Given the description of an element on the screen output the (x, y) to click on. 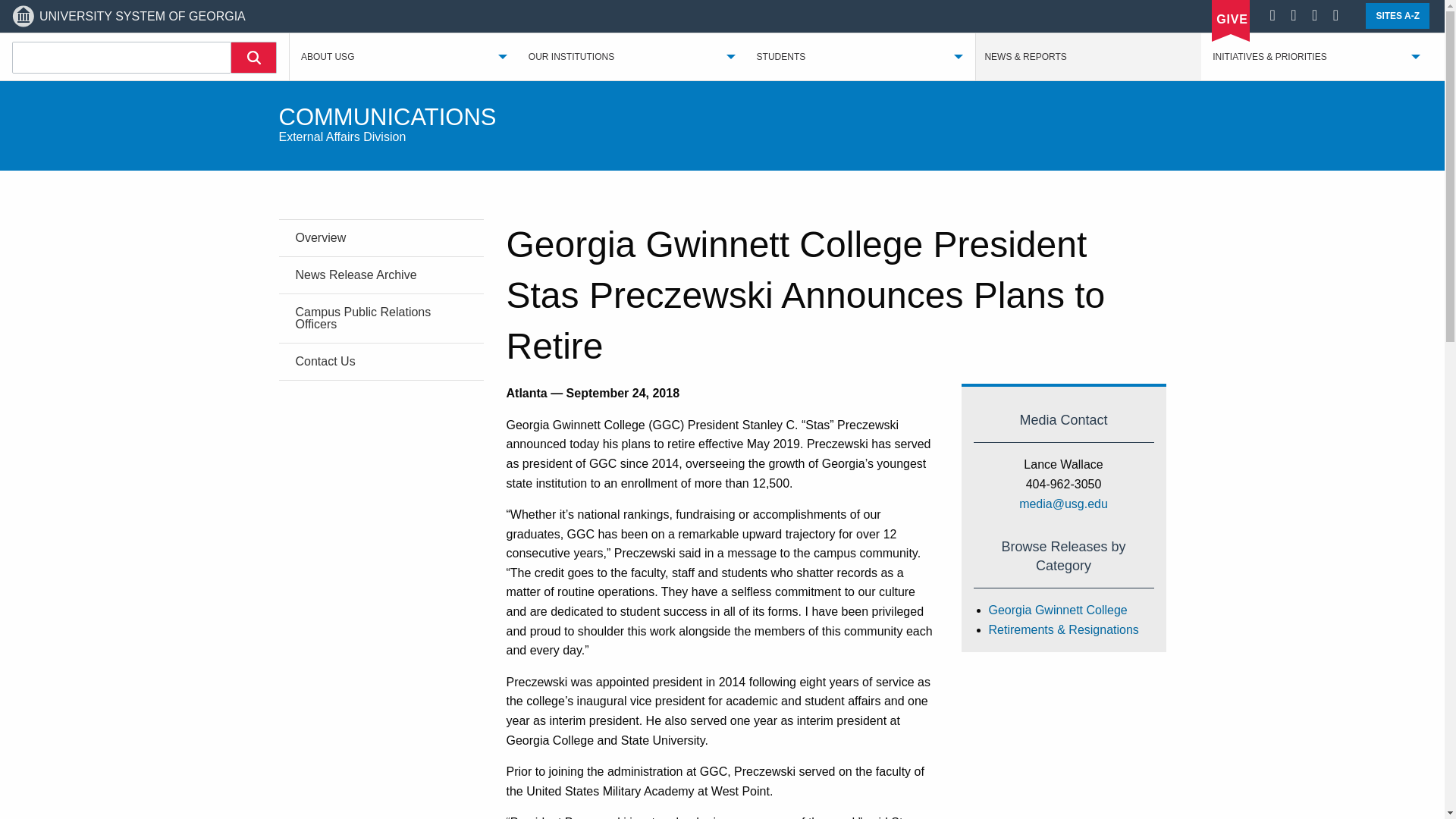
Sites A-Z (1397, 15)
Insert a query. Press enter to send (121, 57)
